Given the description of an element on the screen output the (x, y) to click on. 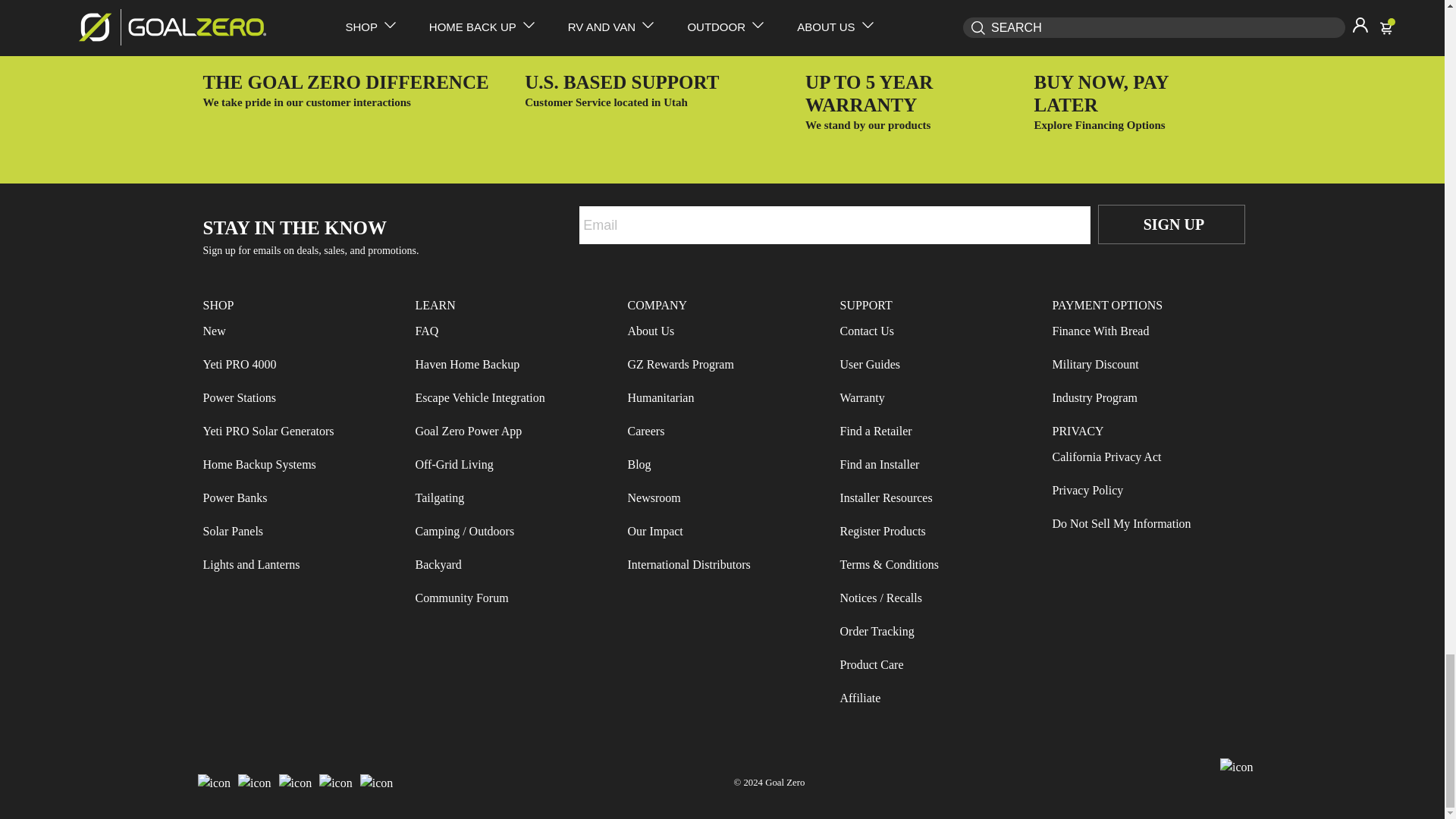
Goal Zero on YouTube (336, 782)
Goal Zero on Twitter (295, 782)
Goal Zero on Instagram (254, 782)
Goal Zero on Facebook (213, 782)
Goal Zero on Pinterest (377, 782)
